Given the description of an element on the screen output the (x, y) to click on. 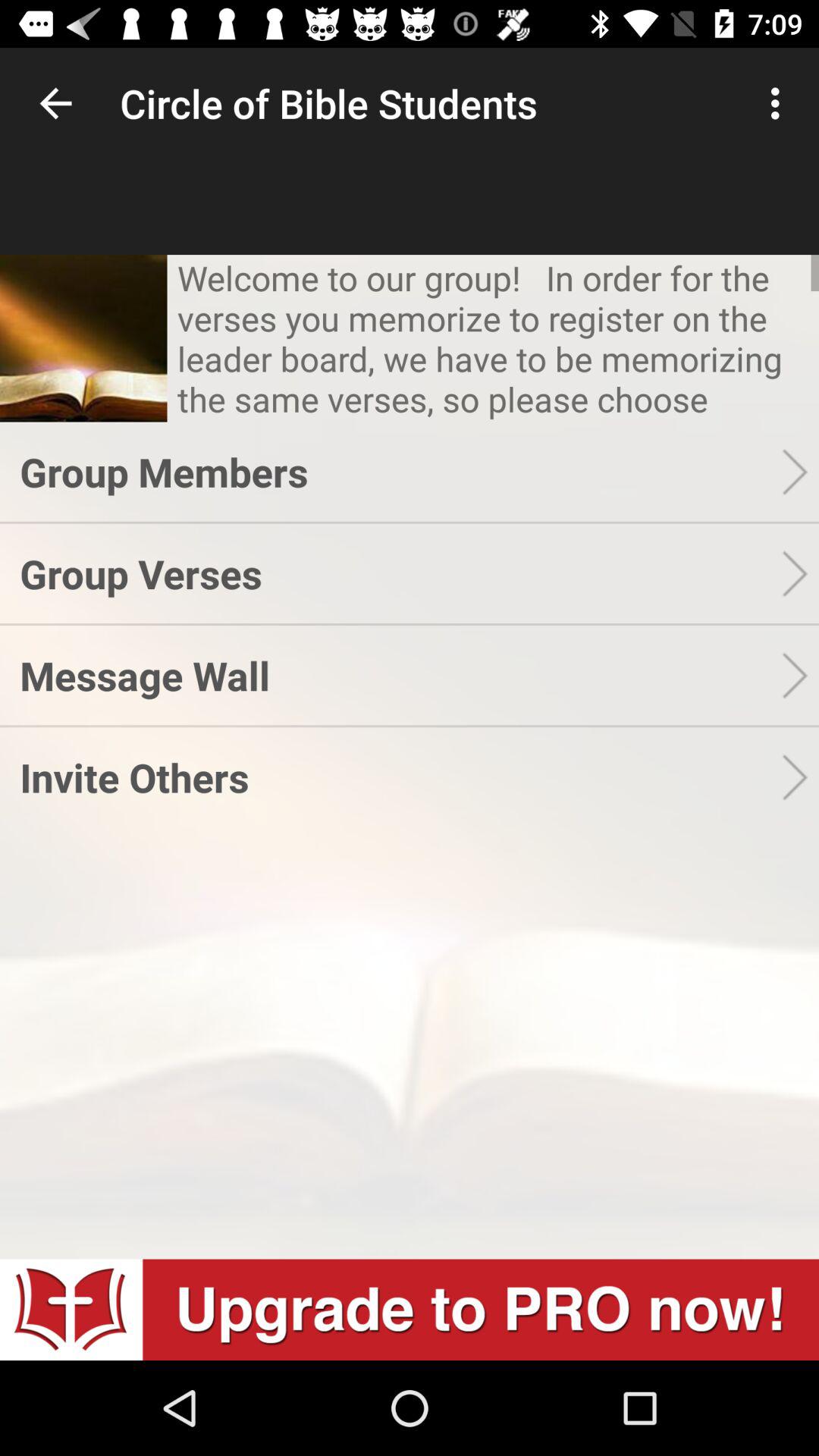
click on the option which is on the top right corner (779, 103)
select the right scroll bar icon which is beside the message wall (800, 675)
select the arrow icon next to invite others (800, 776)
